Given the description of an element on the screen output the (x, y) to click on. 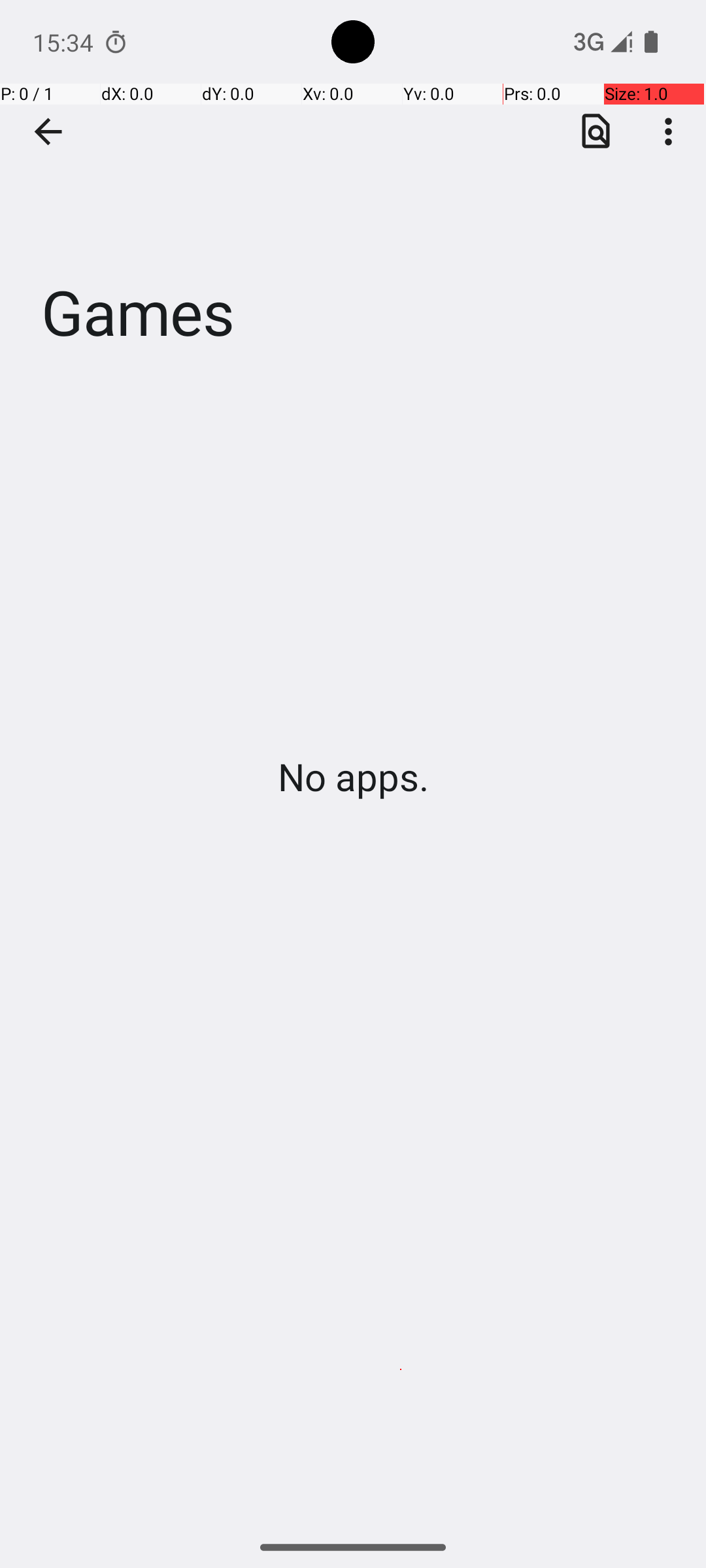
No apps. Element type: android.widget.TextView (353, 776)
